Given the description of an element on the screen output the (x, y) to click on. 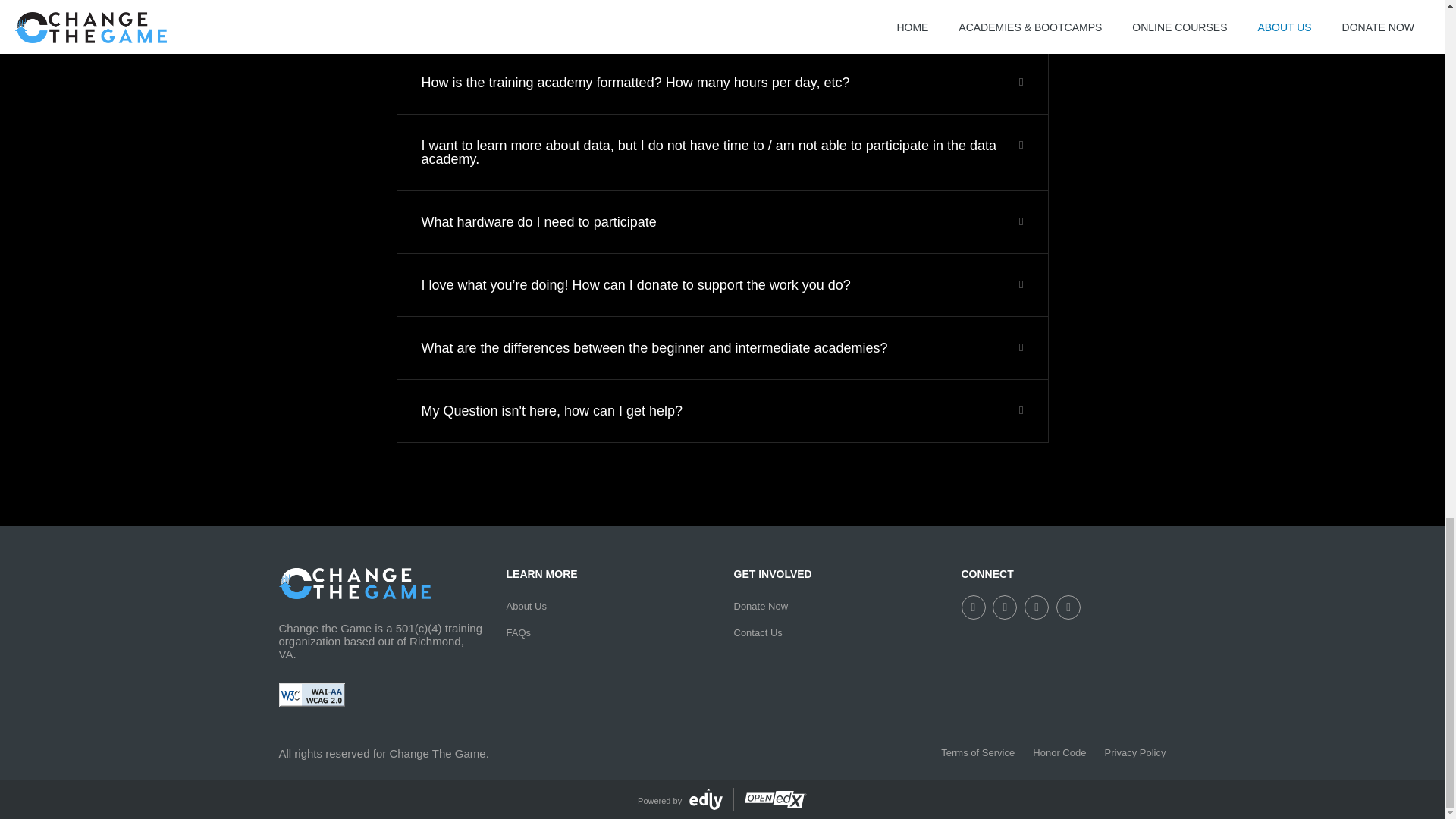
What hardware do I need to participate (539, 222)
My Question isn't here, how can I get help? (552, 410)
Can I participate virtually? (500, 19)
